Given the description of an element on the screen output the (x, y) to click on. 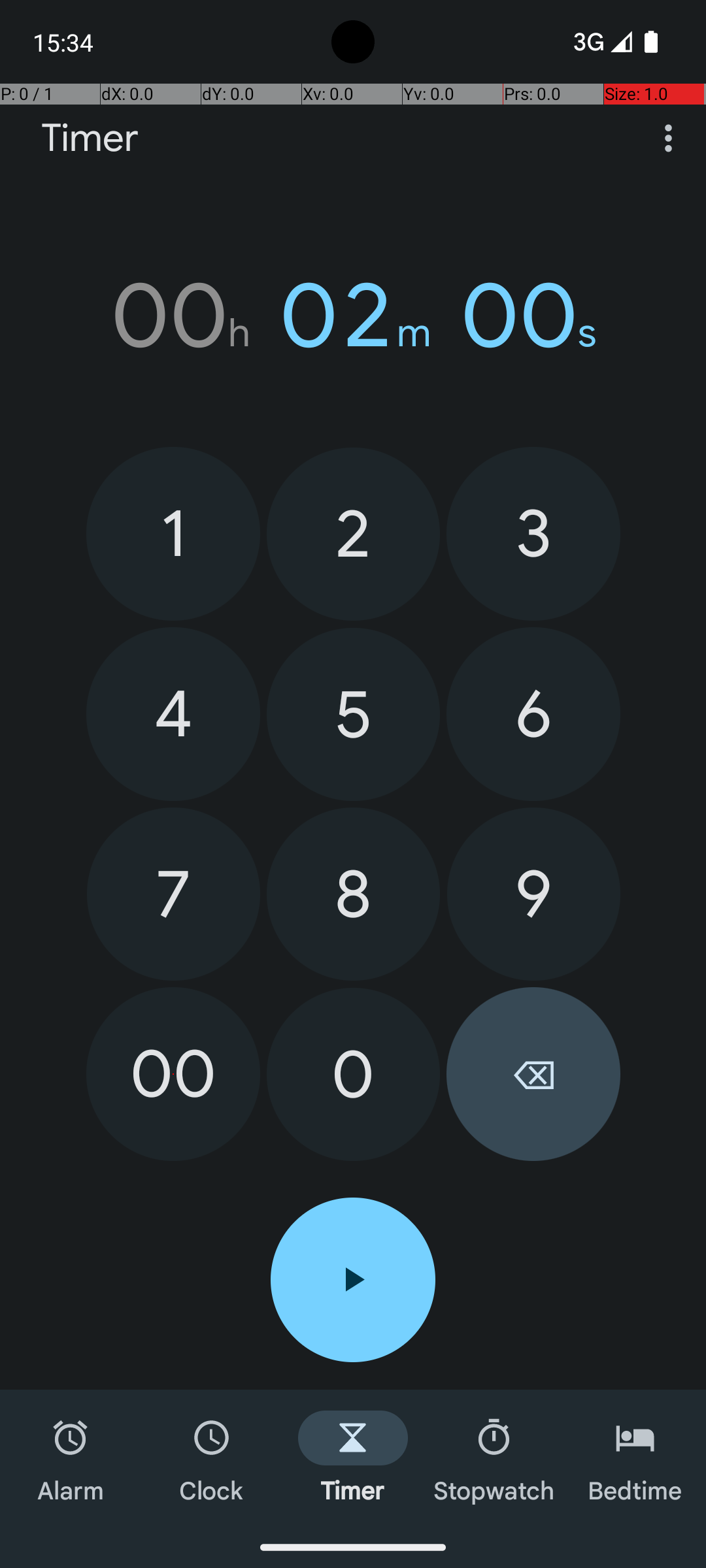
00h 02m 00s Element type: android.widget.TextView (353, 315)
